Given the description of an element on the screen output the (x, y) to click on. 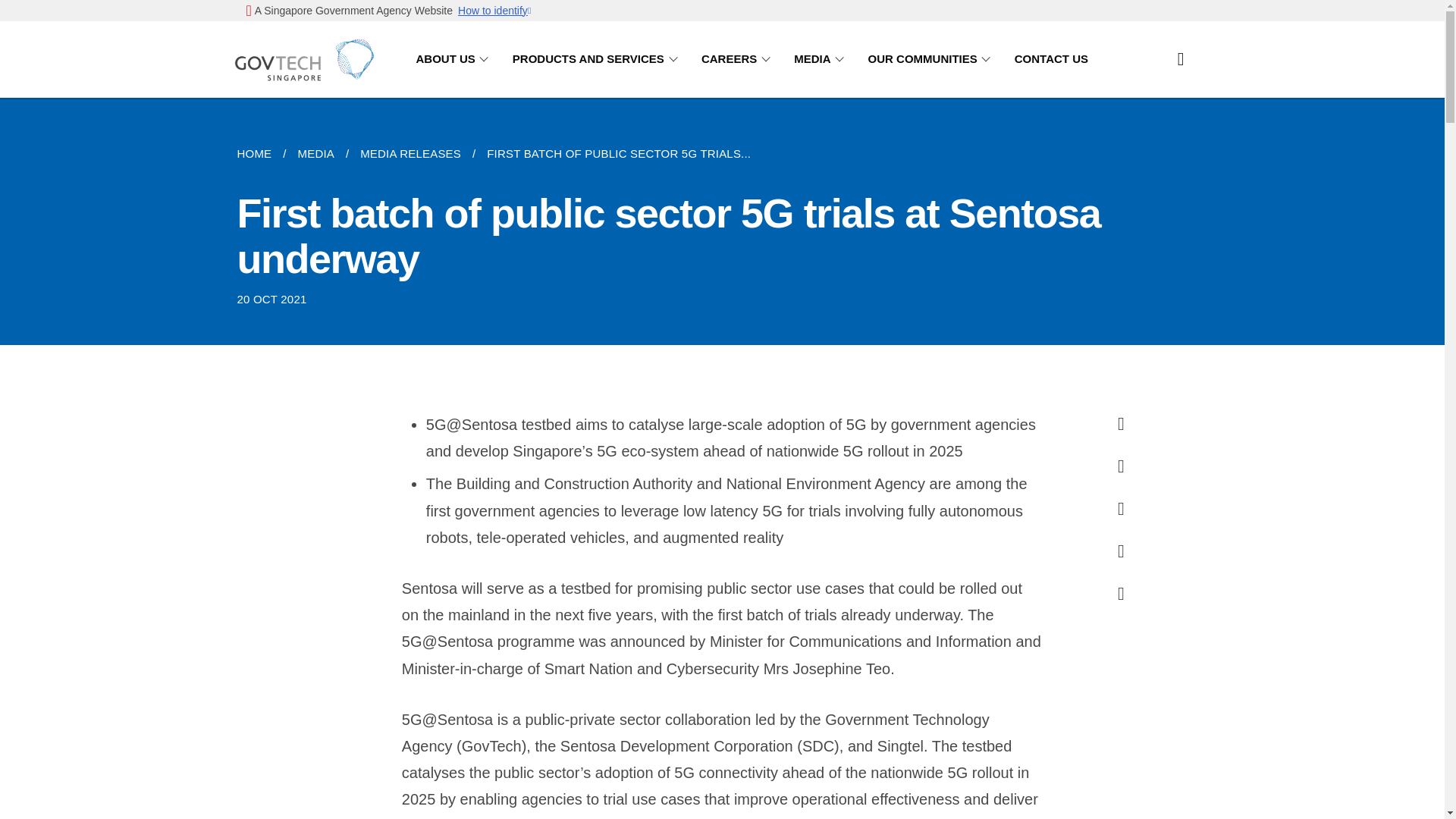
ABOUT US (453, 59)
CAREERS (738, 59)
FIRST BATCH OF PUBLIC SECTOR 5G TRIALS... (618, 153)
PRODUCTS AND SERVICES (597, 59)
MEDIA (315, 153)
MEDIA RELEASES (410, 153)
CONTACT US (1050, 59)
OUR COMMUNITIES (931, 59)
HOME (258, 153)
